Given the description of an element on the screen output the (x, y) to click on. 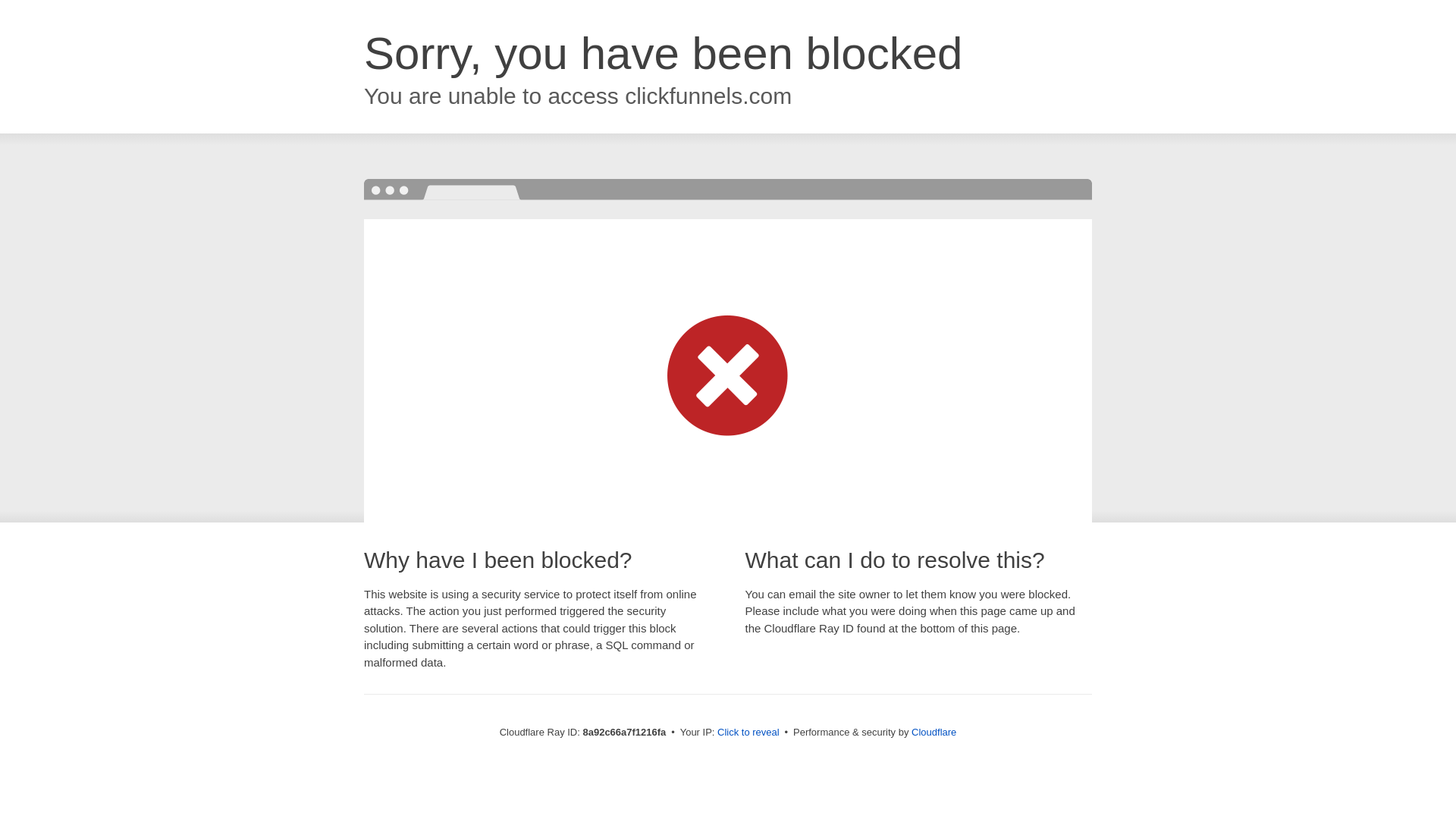
Cloudflare (933, 731)
Click to reveal (747, 732)
